Given the description of an element on the screen output the (x, y) to click on. 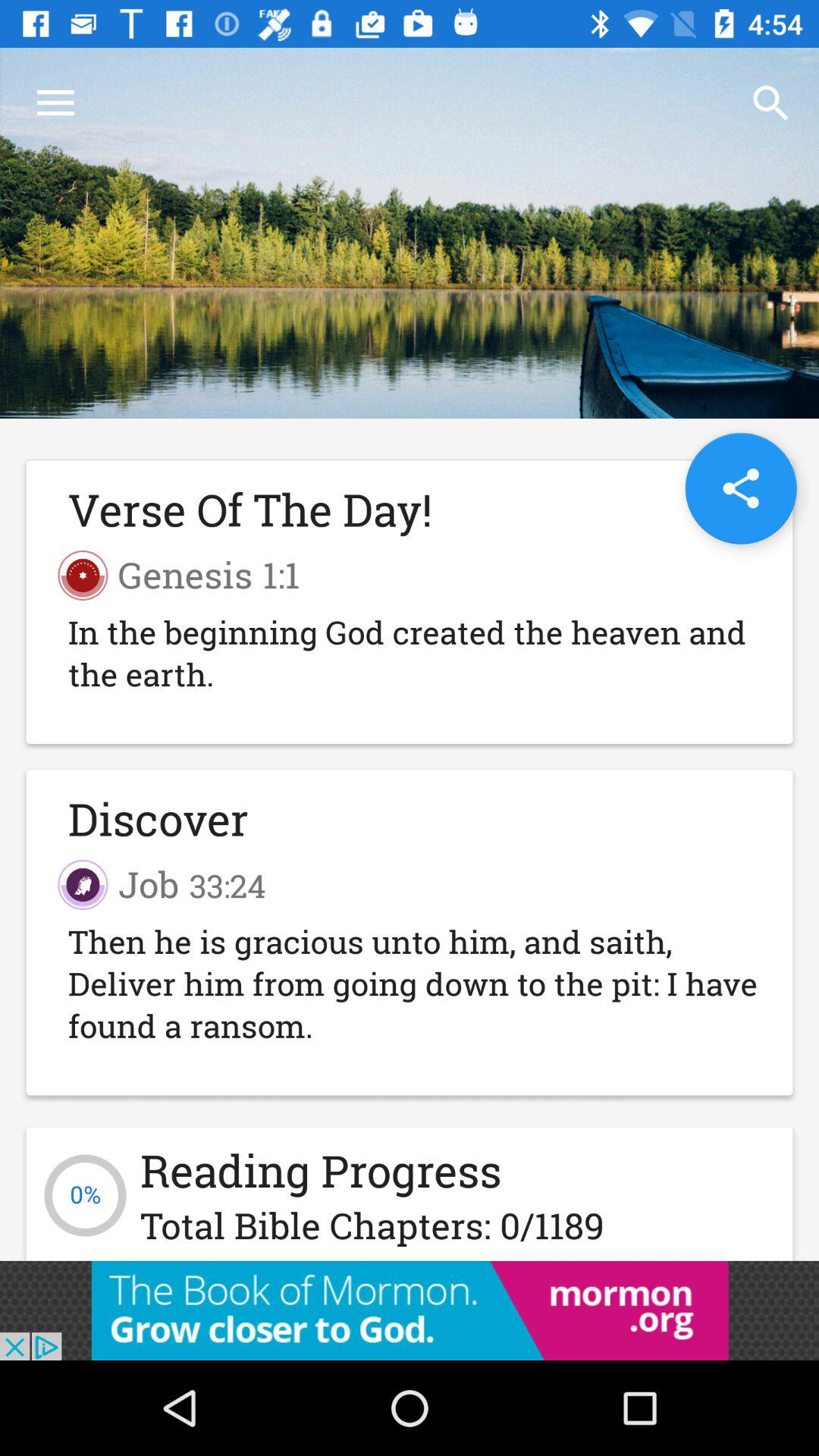
search location (740, 488)
